Given the description of an element on the screen output the (x, y) to click on. 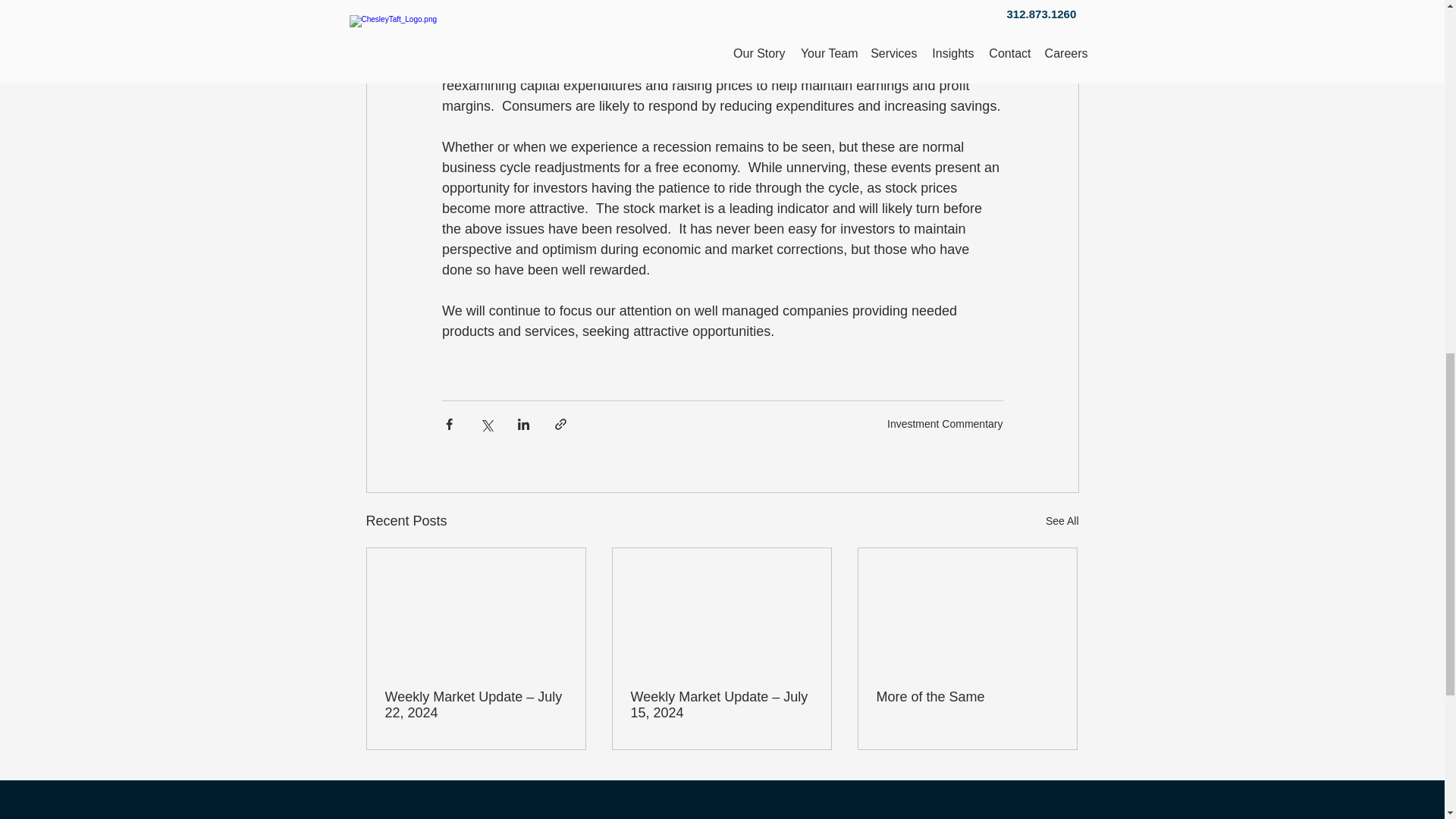
Investment Commentary (944, 423)
More of the Same (967, 697)
See All (1061, 521)
